Given the description of an element on the screen output the (x, y) to click on. 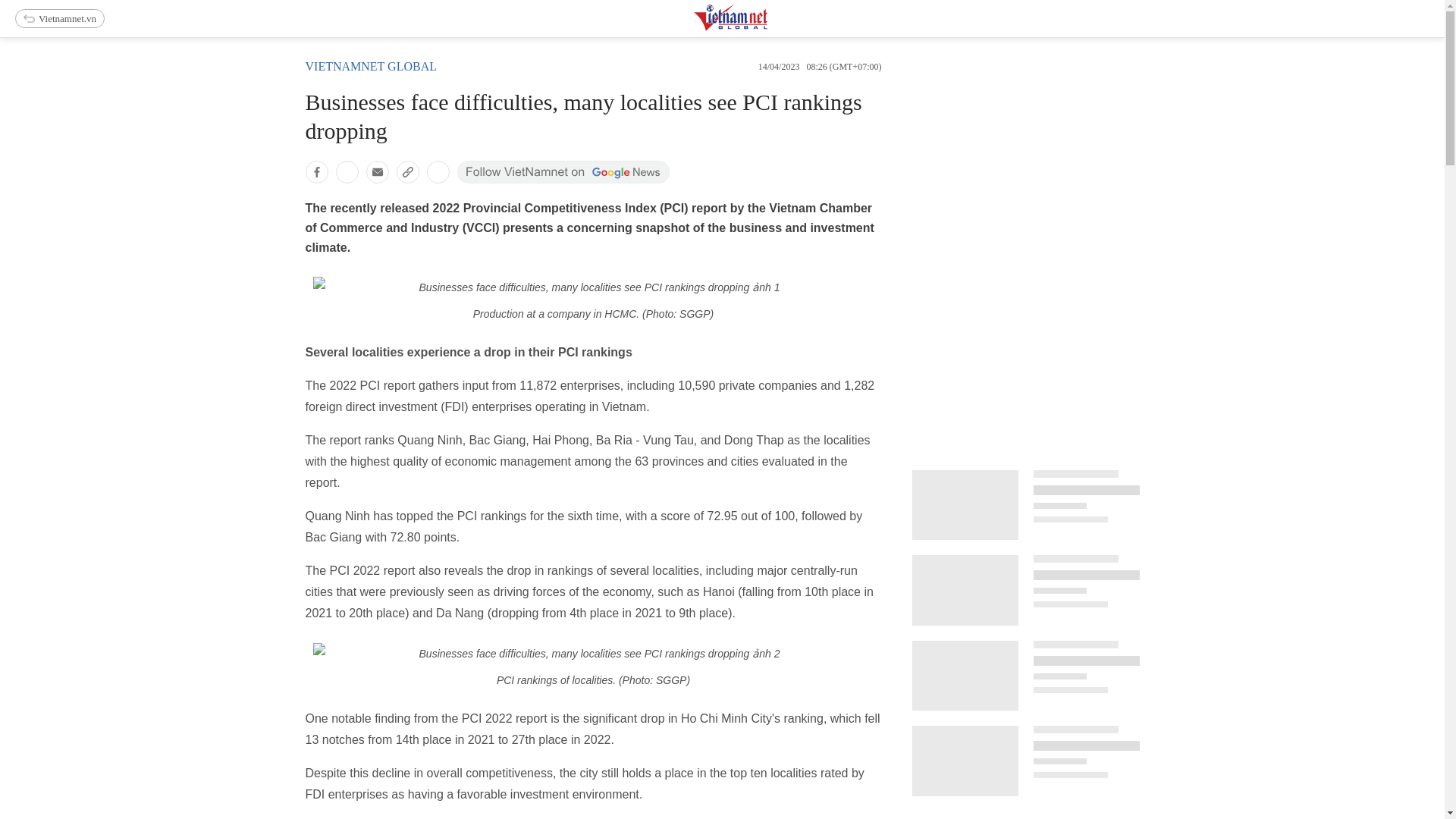
Share the post on email (376, 171)
Share the post on facebook (315, 171)
Copy link (407, 171)
Vietnamnet.vn (59, 18)
Save post (437, 171)
Share the post on zalo (346, 171)
Vietnamnet Global (768, 26)
VIETNAMNET GLOBAL (369, 65)
Vietnamnet global (369, 65)
